Given the description of an element on the screen output the (x, y) to click on. 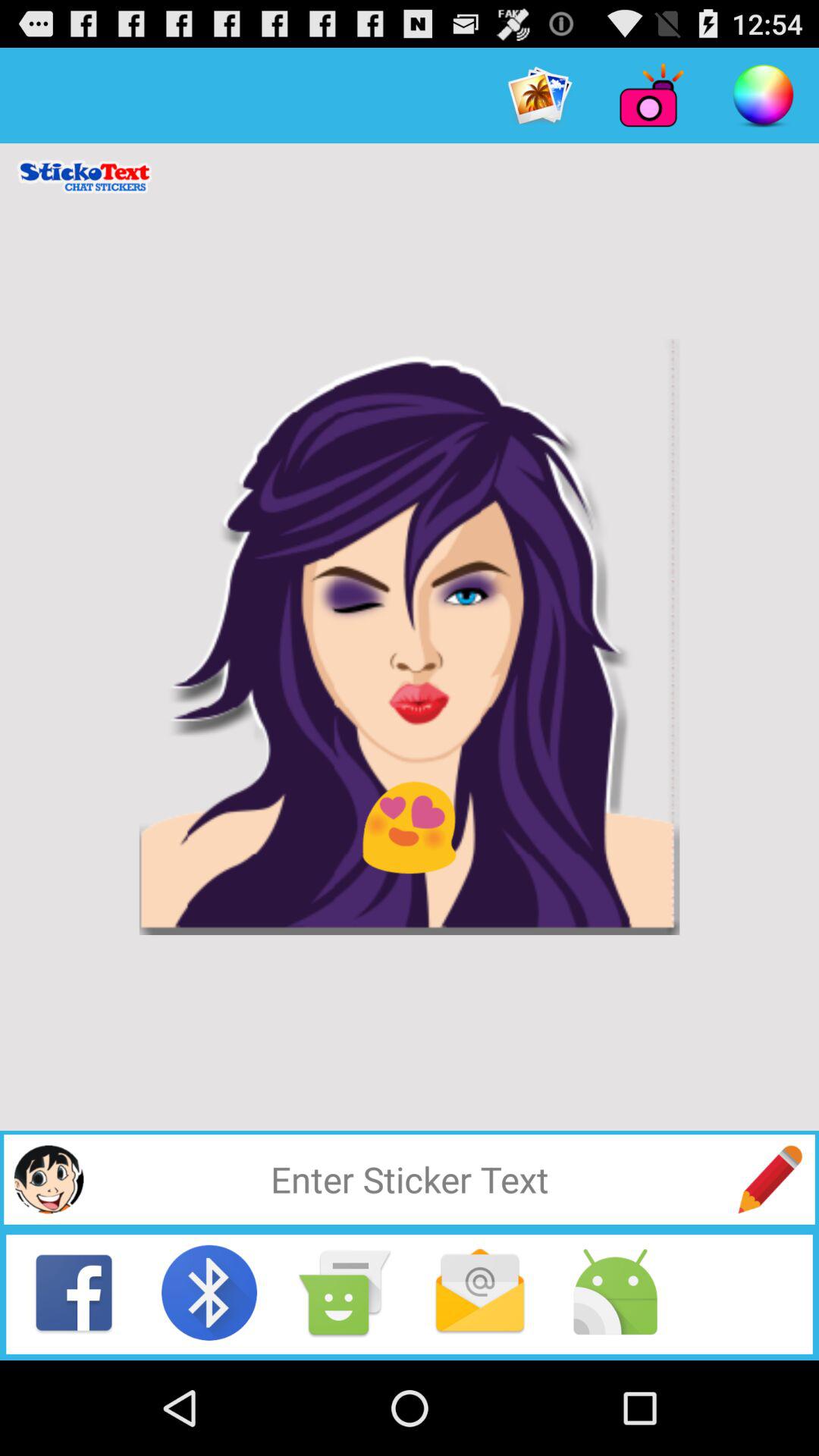
write (770, 1179)
